Given the description of an element on the screen output the (x, y) to click on. 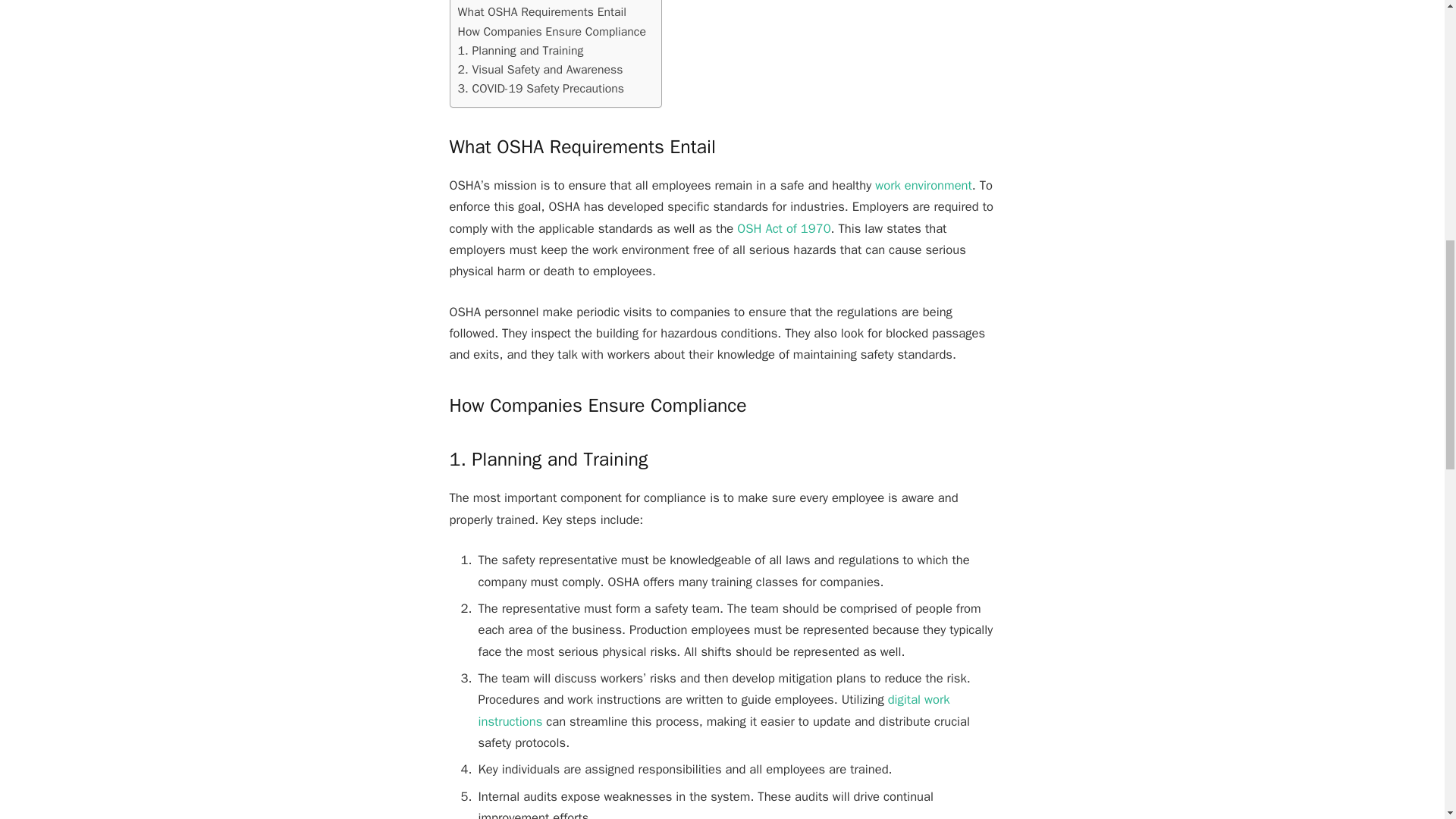
How Companies Ensure Compliance (552, 31)
2. Visual Safety and Awareness (540, 69)
1. Planning and Training (520, 50)
How Companies Ensure Compliance (552, 31)
work environment (923, 185)
digital work instructions (713, 709)
What OSHA Requirements Entail (542, 12)
3. COVID-19 Safety Precautions (541, 88)
1. Planning and Training (520, 50)
What OSHA Requirements Entail (542, 12)
